Given the description of an element on the screen output the (x, y) to click on. 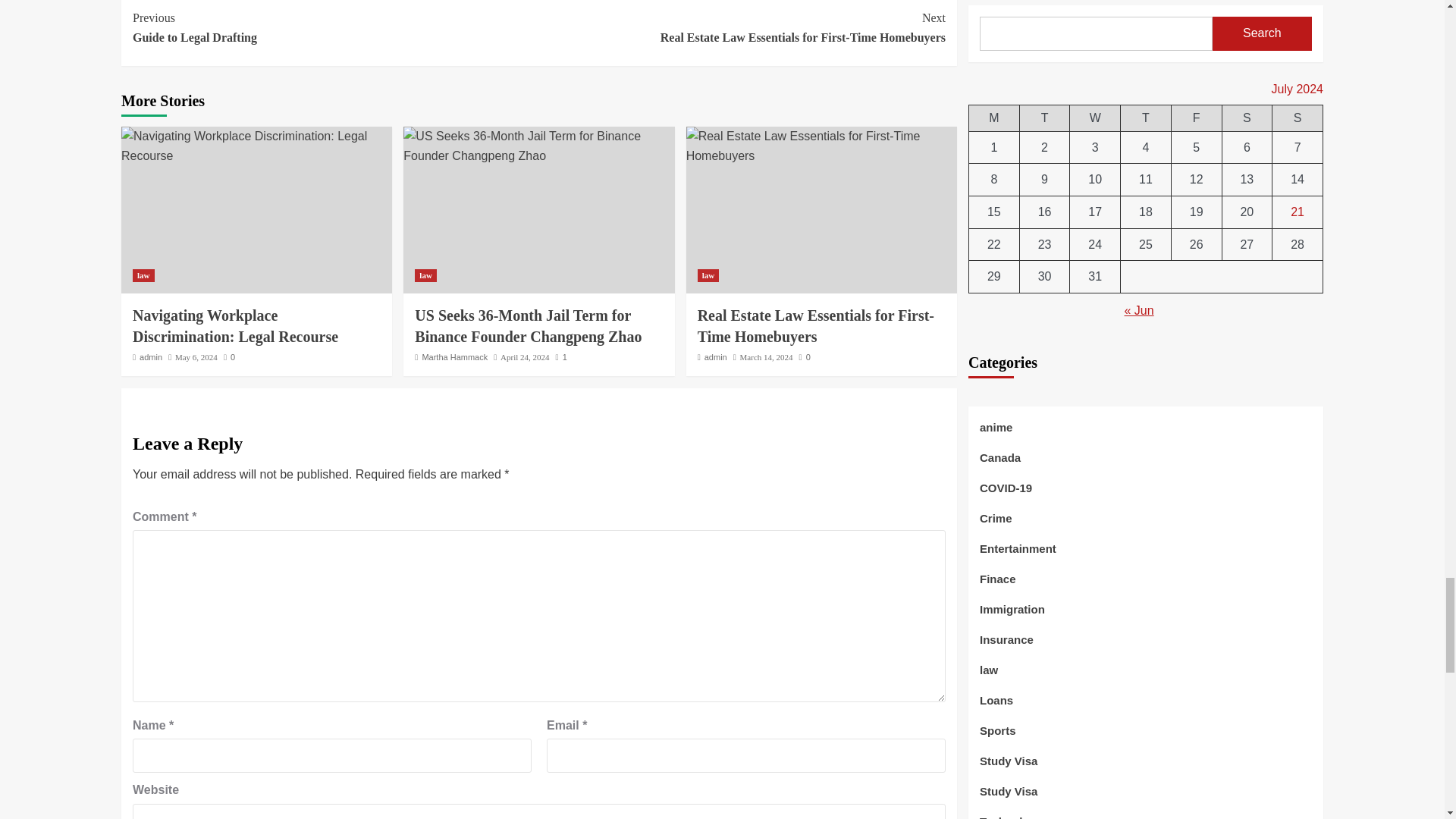
0 (229, 356)
1 (561, 356)
May 6, 2024 (195, 356)
Navigating Workplace Discrimination: Legal Recourse (741, 27)
law (234, 325)
Martha Hammack (425, 275)
law (454, 356)
admin (143, 275)
April 24, 2024 (335, 27)
law (150, 356)
Real Estate Law Essentials for First-Time Homebuyers (524, 356)
